Given the description of an element on the screen output the (x, y) to click on. 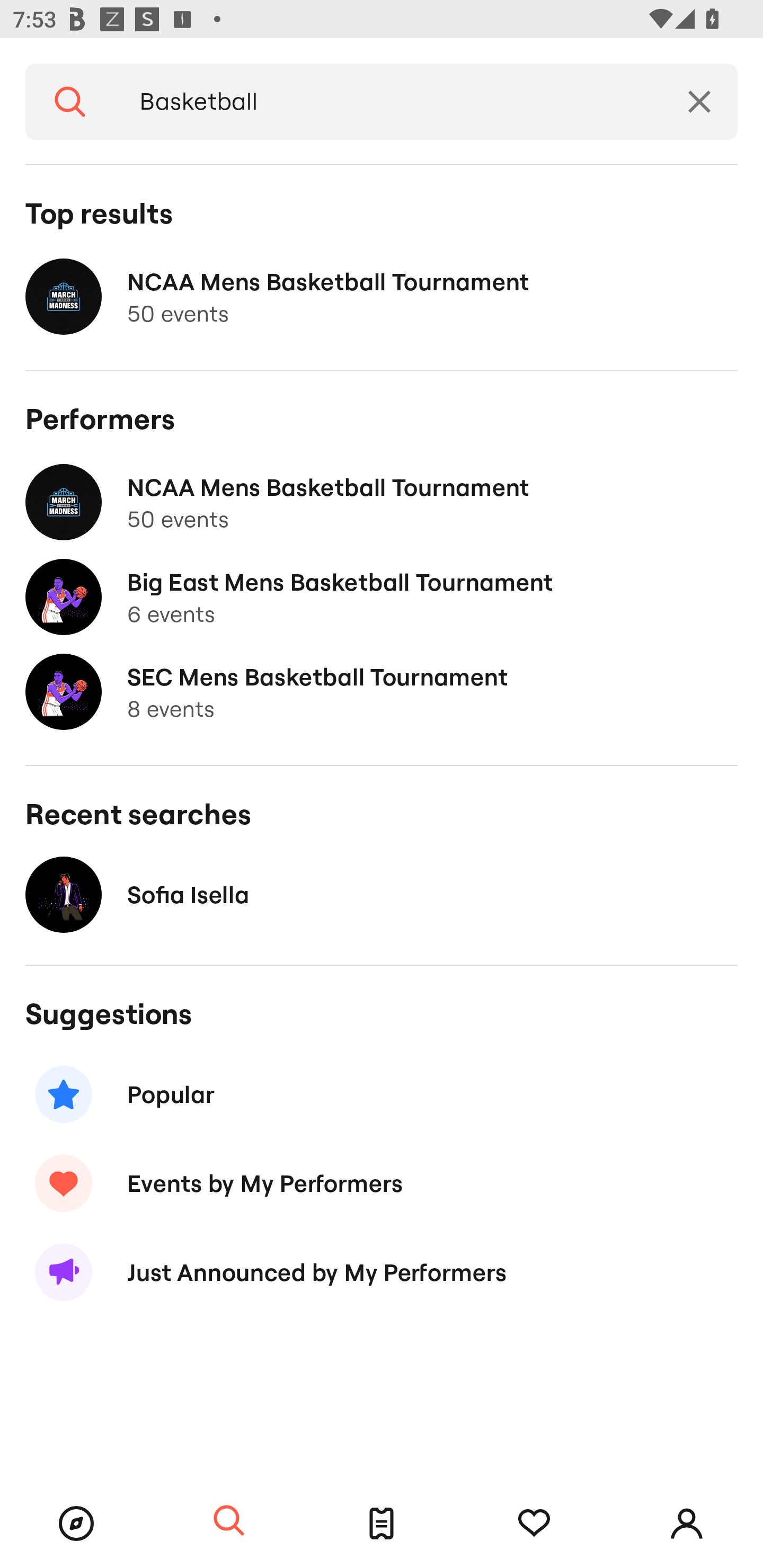
Search (69, 101)
Basketball (387, 101)
Clear (699, 101)
NCAA Mens Basketball Tournament 50 events (381, 296)
NCAA Mens Basketball Tournament 50 events (381, 502)
Big East Mens Basketball Tournament 6 events (381, 597)
SEC Mens Basketball Tournament 8 events (381, 692)
Sofia Isella (381, 894)
Popular (381, 1094)
Events by My Performers (381, 1182)
Just Announced by My Performers (381, 1272)
Browse (76, 1523)
Search (228, 1521)
Tickets (381, 1523)
Tracking (533, 1523)
Account (686, 1523)
